Given the description of an element on the screen output the (x, y) to click on. 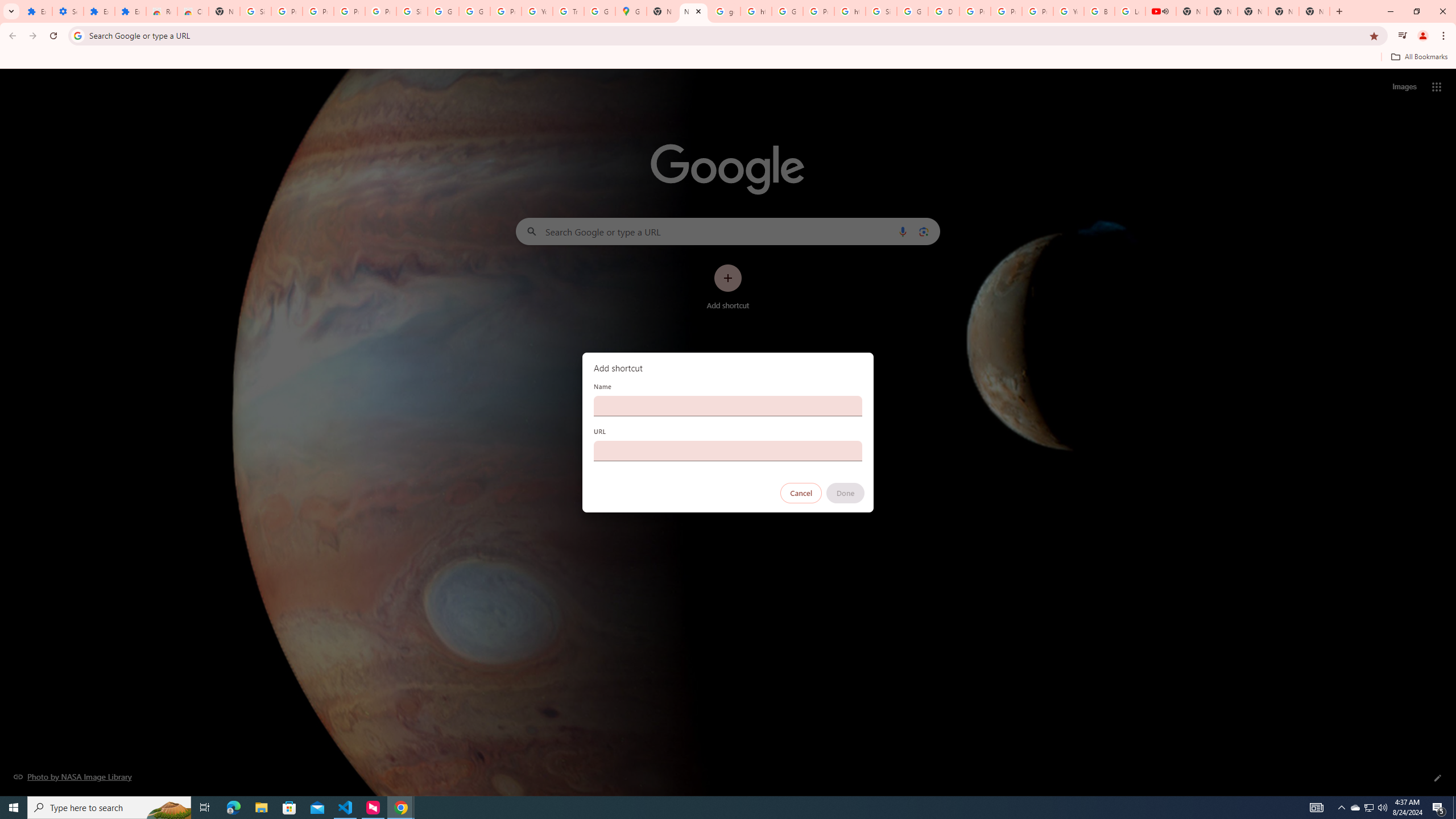
Done (845, 493)
Cancel (801, 493)
Settings (67, 11)
Bookmarks (728, 58)
https://scholar.google.com/ (756, 11)
Sign in - Google Accounts (881, 11)
YouTube (1068, 11)
